Given the description of an element on the screen output the (x, y) to click on. 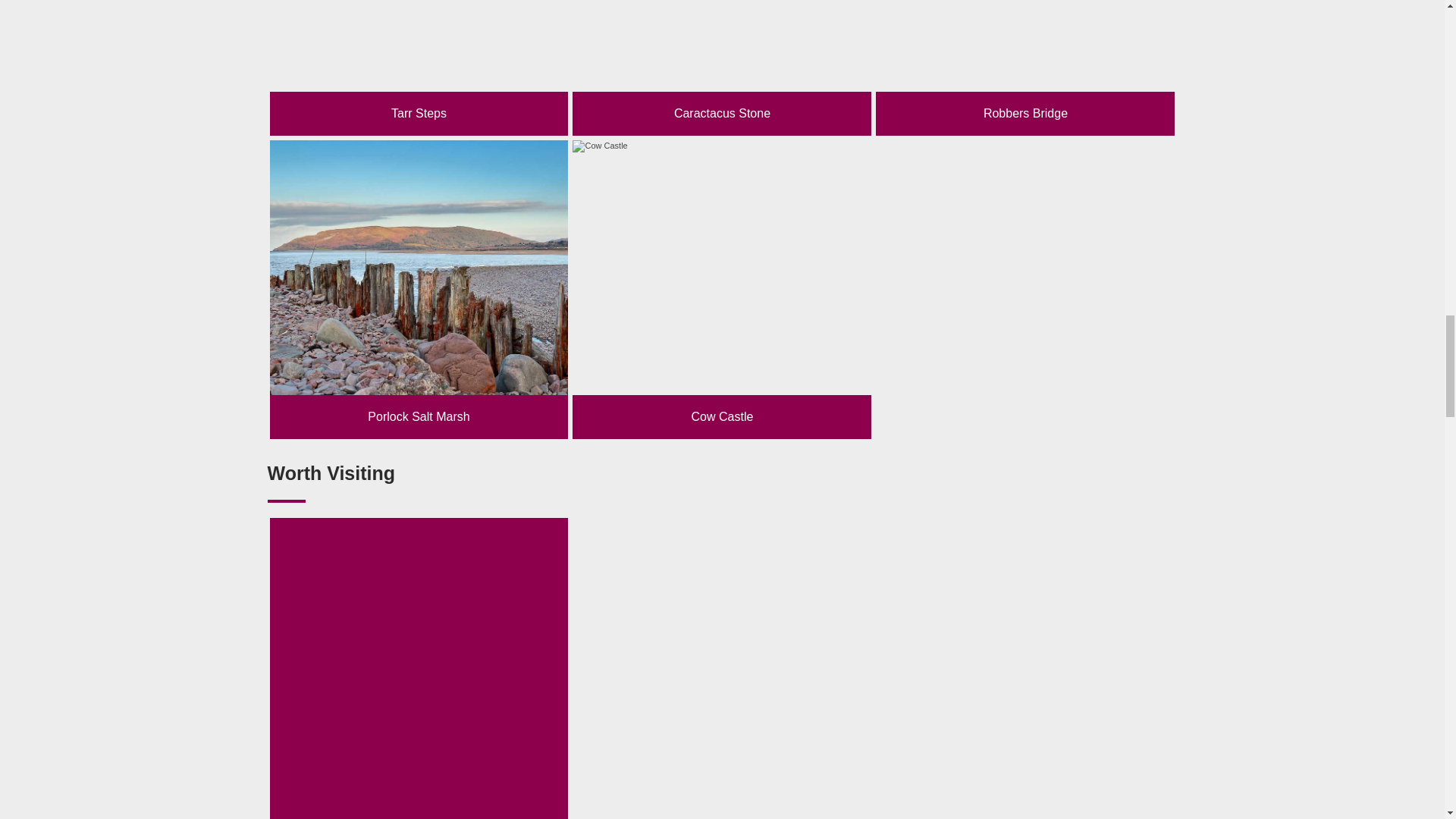
Porlock Salt Marsh (419, 289)
Tarr Steps (419, 67)
Robbers Bridge (1025, 67)
Caractacus Stone (721, 67)
Cow Castle (721, 289)
